Given the description of an element on the screen output the (x, y) to click on. 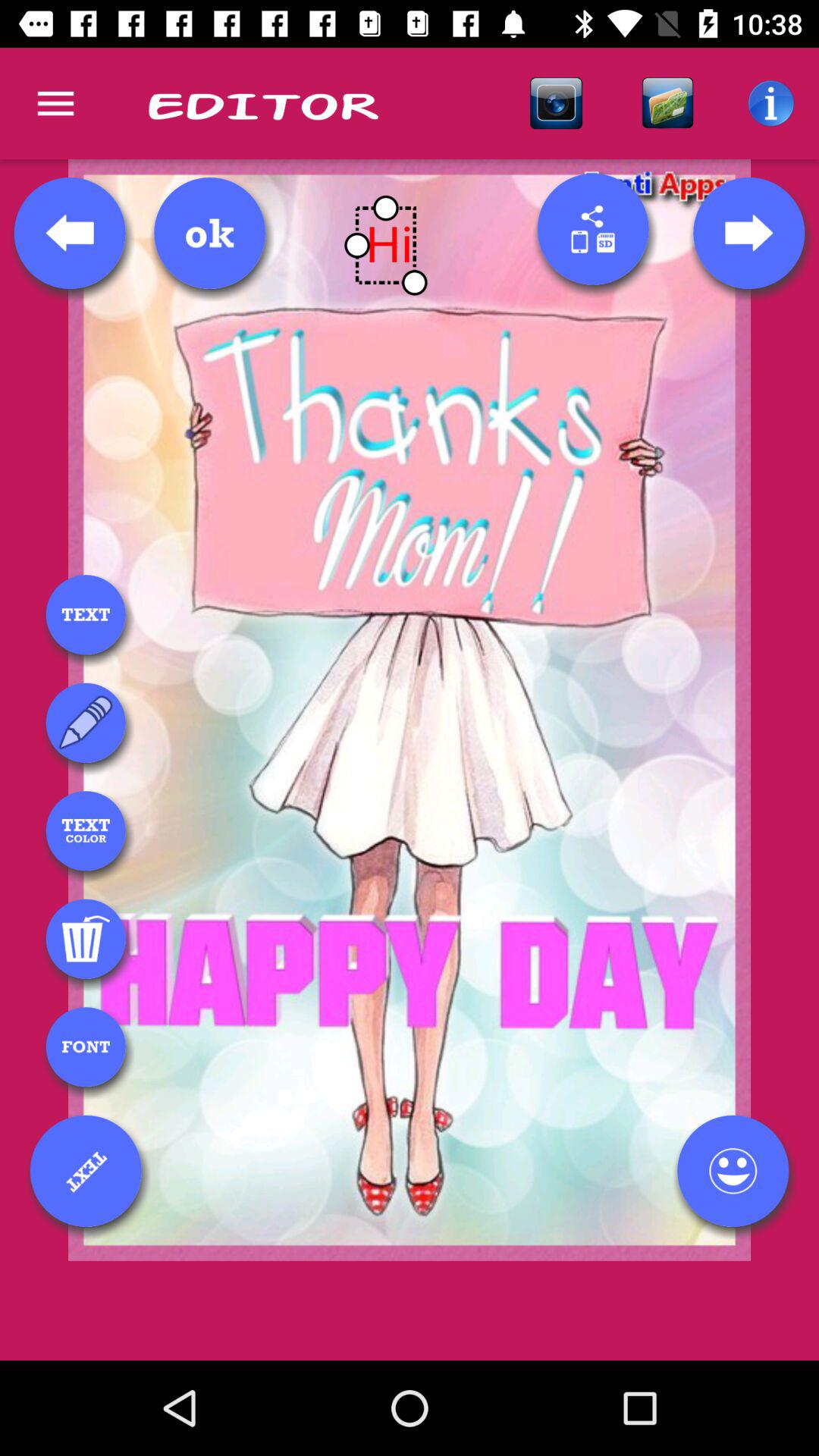
share the card (593, 229)
